Given the description of an element on the screen output the (x, y) to click on. 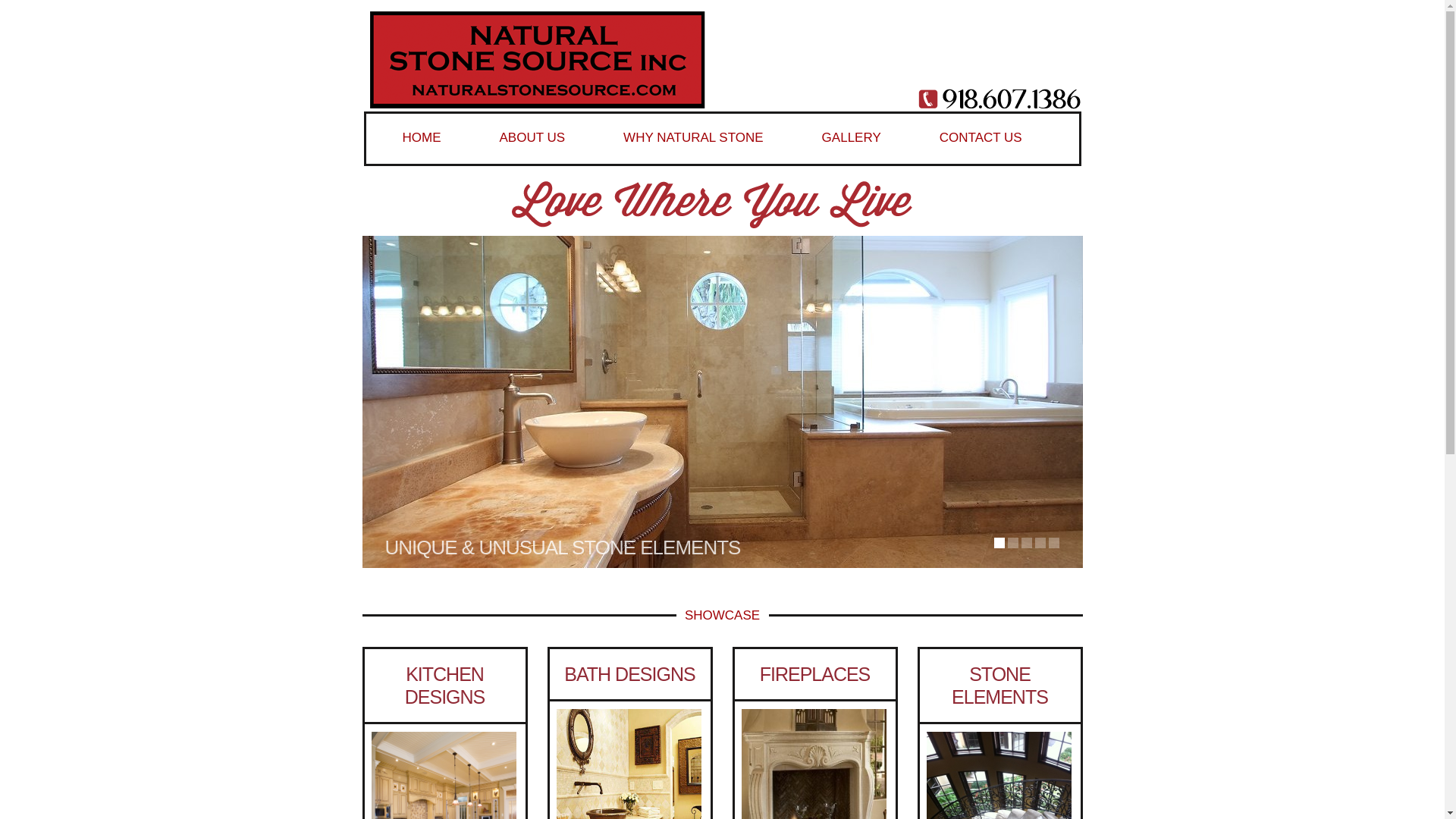
HOME (432, 144)
2 (1012, 542)
5 (1053, 542)
4 (1039, 542)
1 (998, 542)
WHY NATURAL STONE (704, 144)
Next (1069, 415)
CONTACT US (991, 144)
3 (1025, 542)
Prev (376, 415)
GALLERY (862, 144)
ABOUT US (542, 144)
